Given the description of an element on the screen output the (x, y) to click on. 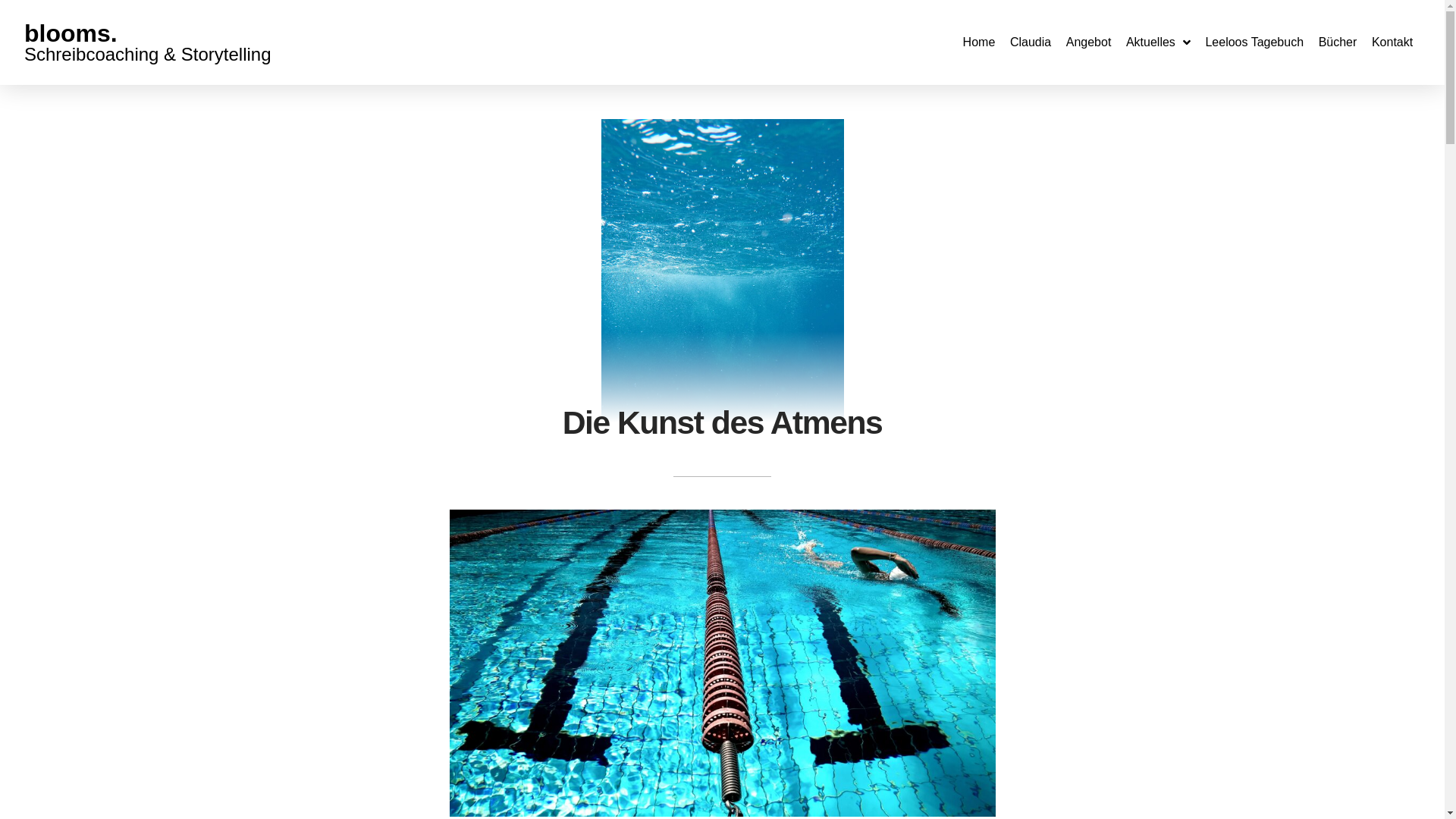
Home Element type: text (978, 42)
Angebot Element type: text (1088, 42)
Leeloos Tagebuch Element type: text (1254, 42)
Claudia Element type: text (1030, 42)
blooms.
Schreibcoaching & Storytelling Element type: text (147, 42)
Kontakt Element type: text (1392, 42)
Aktuelles Element type: text (1158, 42)
